Given the description of an element on the screen output the (x, y) to click on. 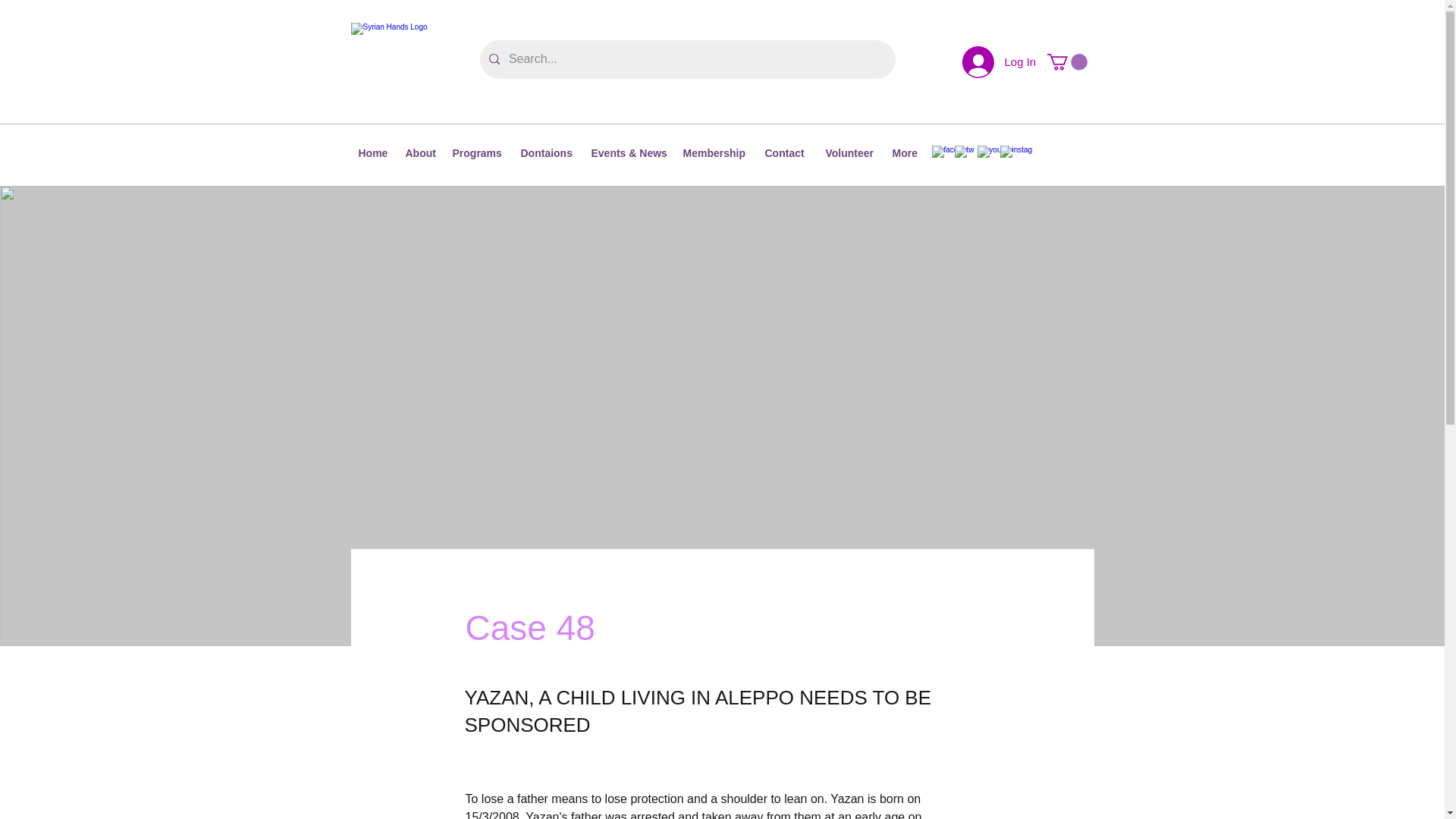
Membership (716, 152)
Home (373, 152)
Volunteer (849, 152)
Log In (996, 60)
Programs (478, 152)
Dontaions (547, 152)
About (420, 152)
Contact (786, 152)
